Given the description of an element on the screen output the (x, y) to click on. 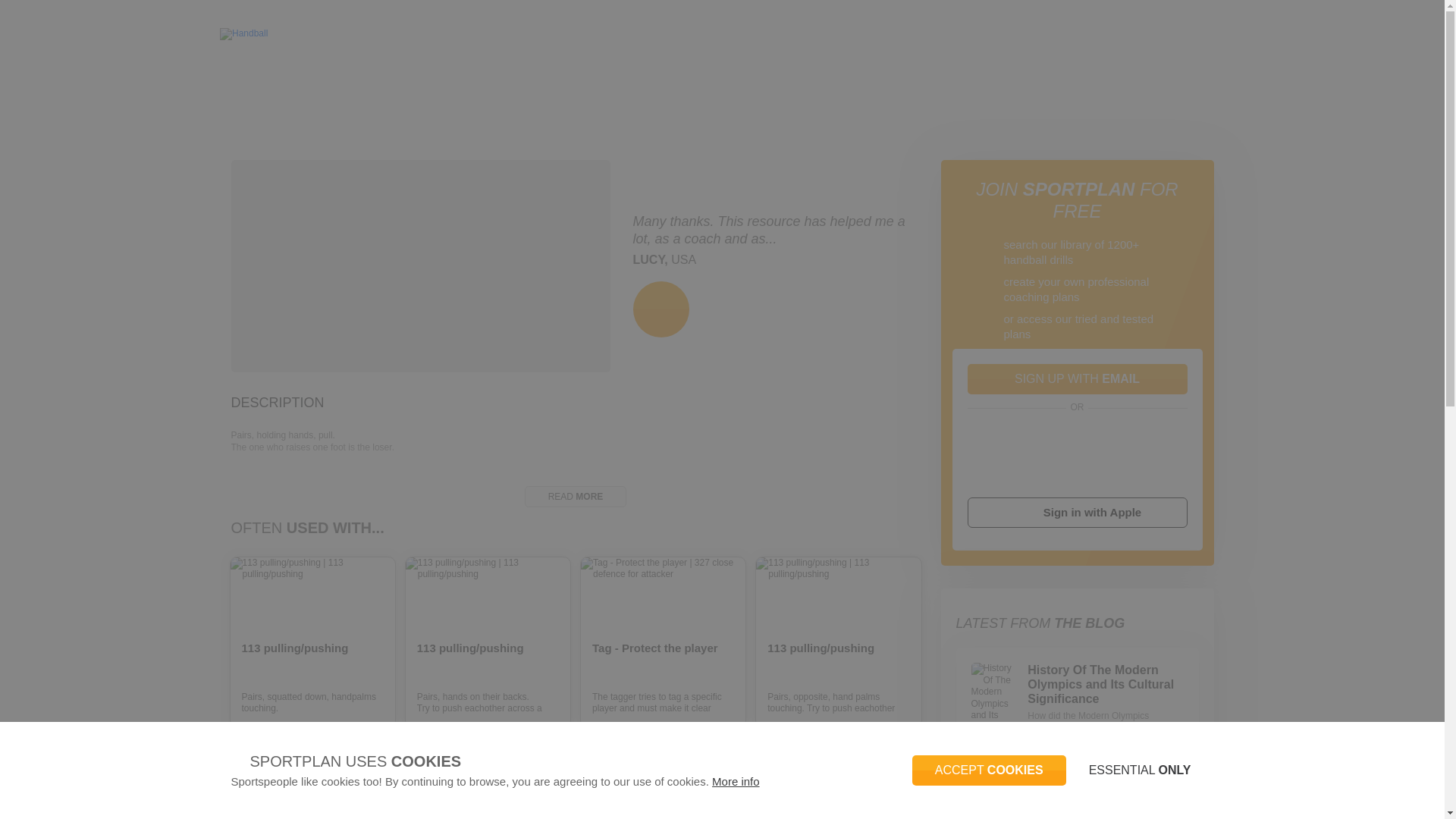
HANDBALL (302, 81)
SIGN UP WITH EMAIL (1078, 378)
DRILLS (362, 81)
HOME (243, 81)
LOG IN (1288, 33)
